Given the description of an element on the screen output the (x, y) to click on. 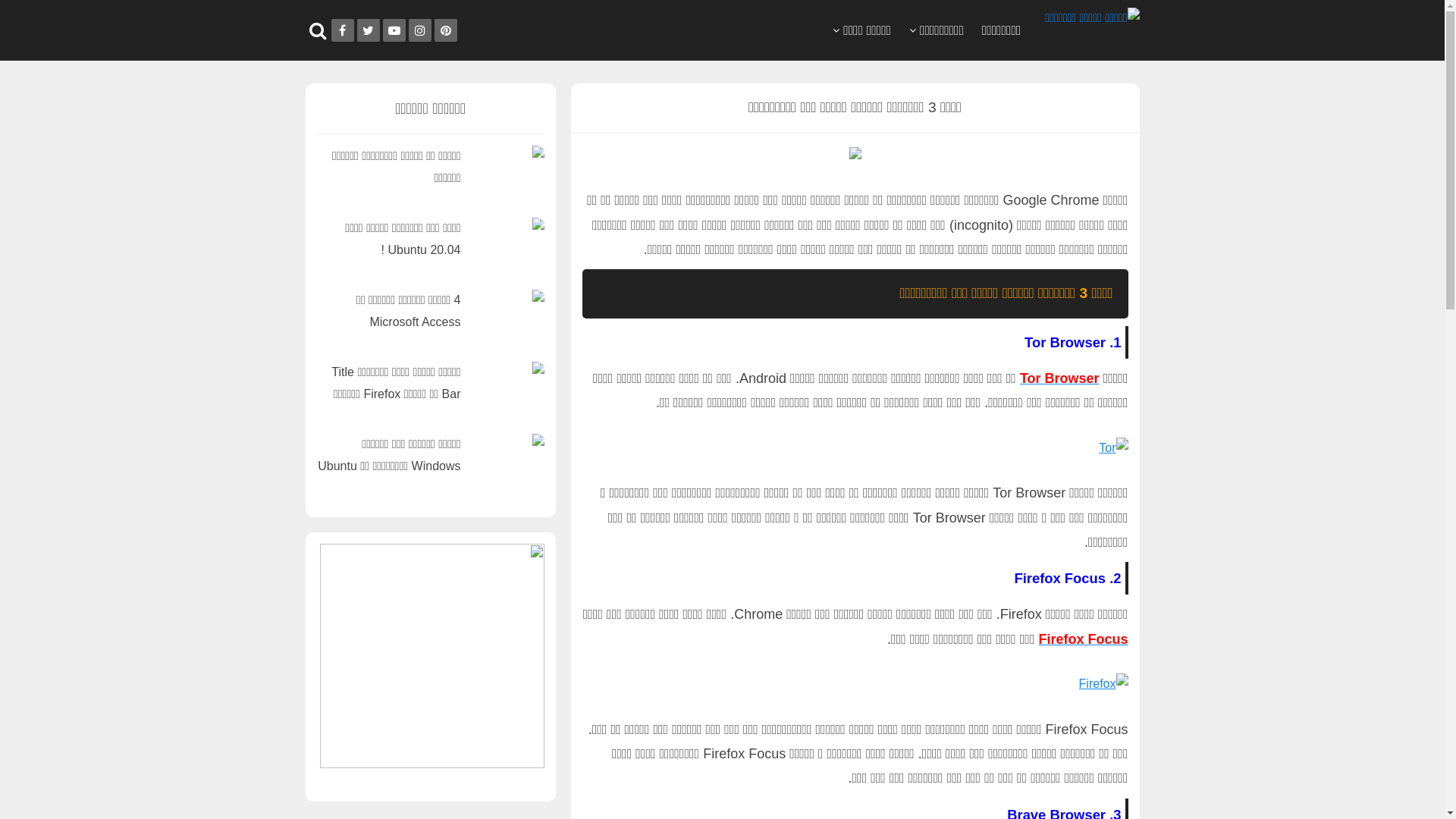
Tor Browser Element type: text (1059, 377)
Firefox Focus Element type: hover (1103, 684)
Firefox Focus Element type: text (1082, 638)
